Given the description of an element on the screen output the (x, y) to click on. 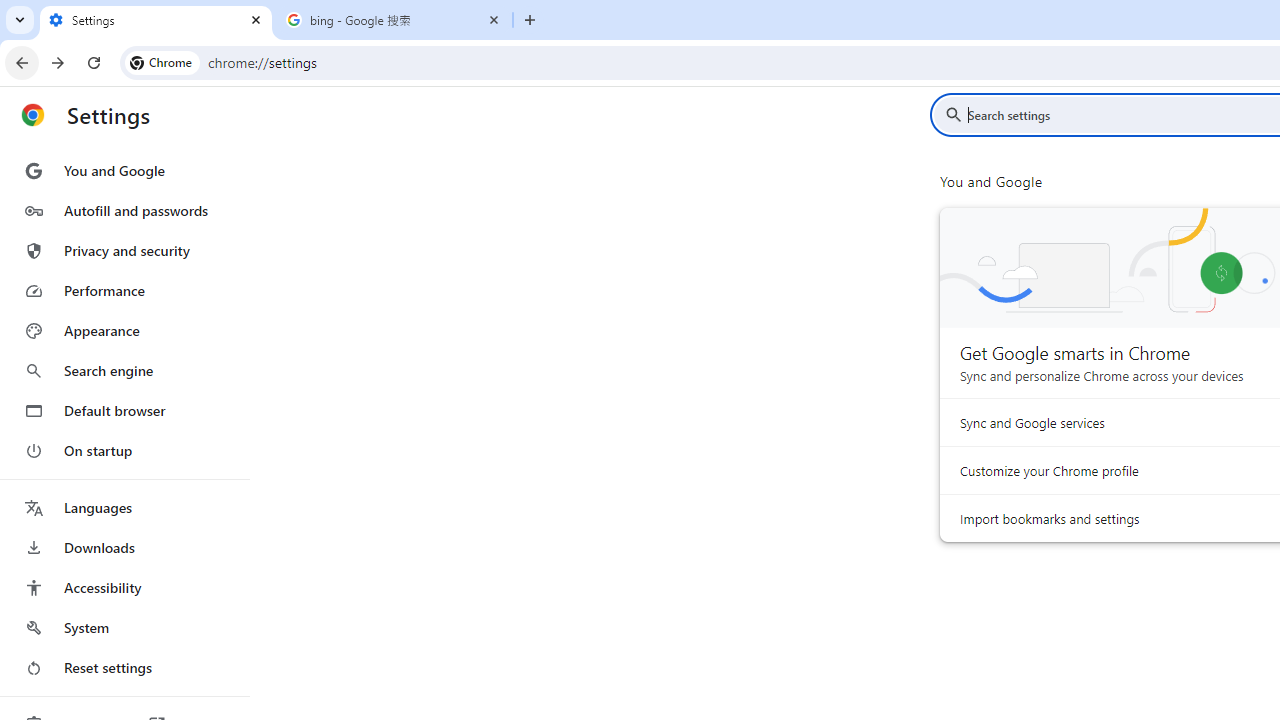
Performance (124, 290)
Appearance (124, 331)
Settings (156, 20)
Downloads (124, 547)
Privacy and security (124, 250)
